Given the description of an element on the screen output the (x, y) to click on. 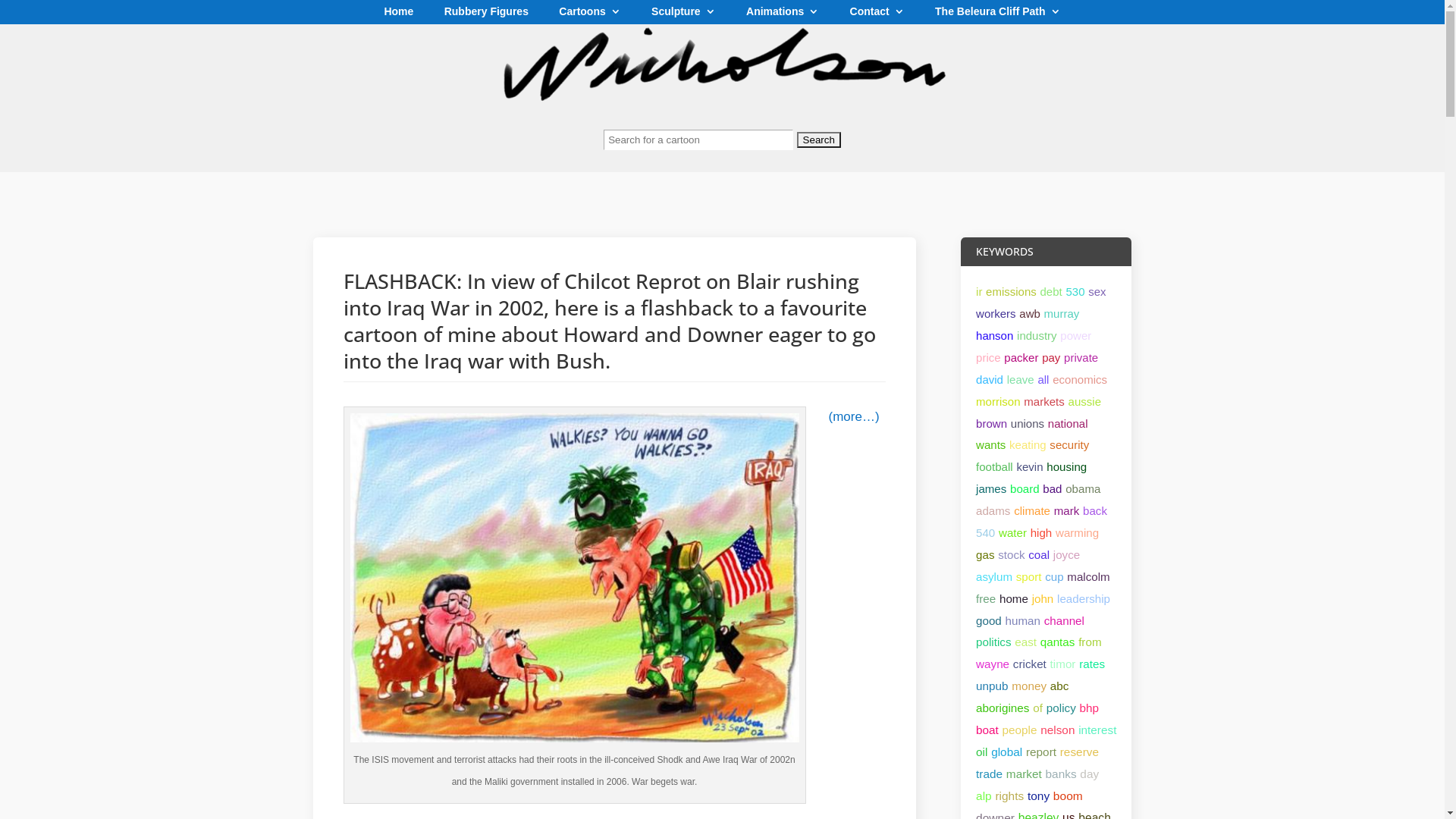
workers Element type: text (995, 313)
economics Element type: text (1079, 379)
football Element type: text (994, 466)
mark Element type: text (1066, 510)
david Element type: text (989, 379)
Rubbery Figures Element type: text (486, 15)
obama Element type: text (1082, 488)
trade Element type: text (988, 773)
people Element type: text (1019, 729)
adams Element type: text (992, 510)
qantas Element type: text (1057, 641)
security Element type: text (1068, 444)
emissions Element type: text (1010, 291)
climate Element type: text (1031, 510)
global Element type: text (1006, 751)
awb Element type: text (1029, 313)
water Element type: text (1012, 532)
private Element type: text (1080, 357)
board Element type: text (1024, 488)
timor Element type: text (1063, 663)
housing Element type: text (1066, 466)
east Element type: text (1025, 641)
morrison Element type: text (997, 401)
brown Element type: text (991, 423)
sex Element type: text (1096, 291)
free Element type: text (985, 598)
banks Element type: text (1060, 773)
oil Element type: text (981, 751)
debt Element type: text (1051, 291)
politics Element type: text (992, 641)
policy Element type: text (1061, 707)
warming Element type: text (1076, 532)
asylum Element type: text (993, 576)
Search Element type: text (818, 139)
Home Element type: text (398, 15)
reserve Element type: text (1079, 751)
aussie Element type: text (1084, 401)
human Element type: text (1022, 620)
joyce Element type: text (1066, 554)
Contact Element type: text (877, 15)
gas Element type: text (984, 554)
interest Element type: text (1097, 729)
markets Element type: text (1043, 401)
murray Element type: text (1061, 313)
tony Element type: text (1038, 795)
home Element type: text (1013, 598)
aborigines Element type: text (1002, 707)
price Element type: text (988, 357)
sport Element type: text (1028, 576)
from Element type: text (1089, 641)
keating Element type: text (1027, 444)
of Element type: text (1037, 707)
unpub Element type: text (991, 685)
wants Element type: text (990, 444)
bad Element type: text (1051, 488)
back Element type: text (1094, 510)
stock Element type: text (1010, 554)
leadership Element type: text (1083, 598)
530 Element type: text (1074, 291)
abc Element type: text (1059, 685)
channel Element type: text (1064, 620)
unions Element type: text (1027, 423)
national Element type: text (1068, 423)
market Element type: text (1023, 773)
The Beleura Cliff Path Element type: text (997, 15)
bhp Element type: text (1089, 707)
ir Element type: text (978, 291)
pay Element type: text (1050, 357)
Sculpture Element type: text (683, 15)
boat Element type: text (986, 729)
power Element type: text (1075, 335)
alp Element type: text (983, 795)
high Element type: text (1041, 532)
nelson Element type: text (1057, 729)
cup Element type: text (1053, 576)
Animations Element type: text (782, 15)
540 Element type: text (984, 532)
industry Element type: text (1036, 335)
john Element type: text (1043, 598)
money Element type: text (1028, 685)
rights Element type: text (1008, 795)
cricket Element type: text (1029, 663)
wayne Element type: text (992, 663)
rates Element type: text (1091, 663)
good Element type: text (988, 620)
Cartoons Element type: text (589, 15)
malcolm Element type: text (1087, 576)
james Element type: text (990, 488)
kevin Element type: text (1029, 466)
report Element type: text (1041, 751)
day Element type: text (1088, 773)
coal Element type: text (1038, 554)
all Element type: text (1042, 379)
hanson Element type: text (994, 335)
Search for: Element type: text (721, 147)
boom Element type: text (1067, 795)
packer Element type: text (1021, 357)
leave Element type: text (1020, 379)
